Given the description of an element on the screen output the (x, y) to click on. 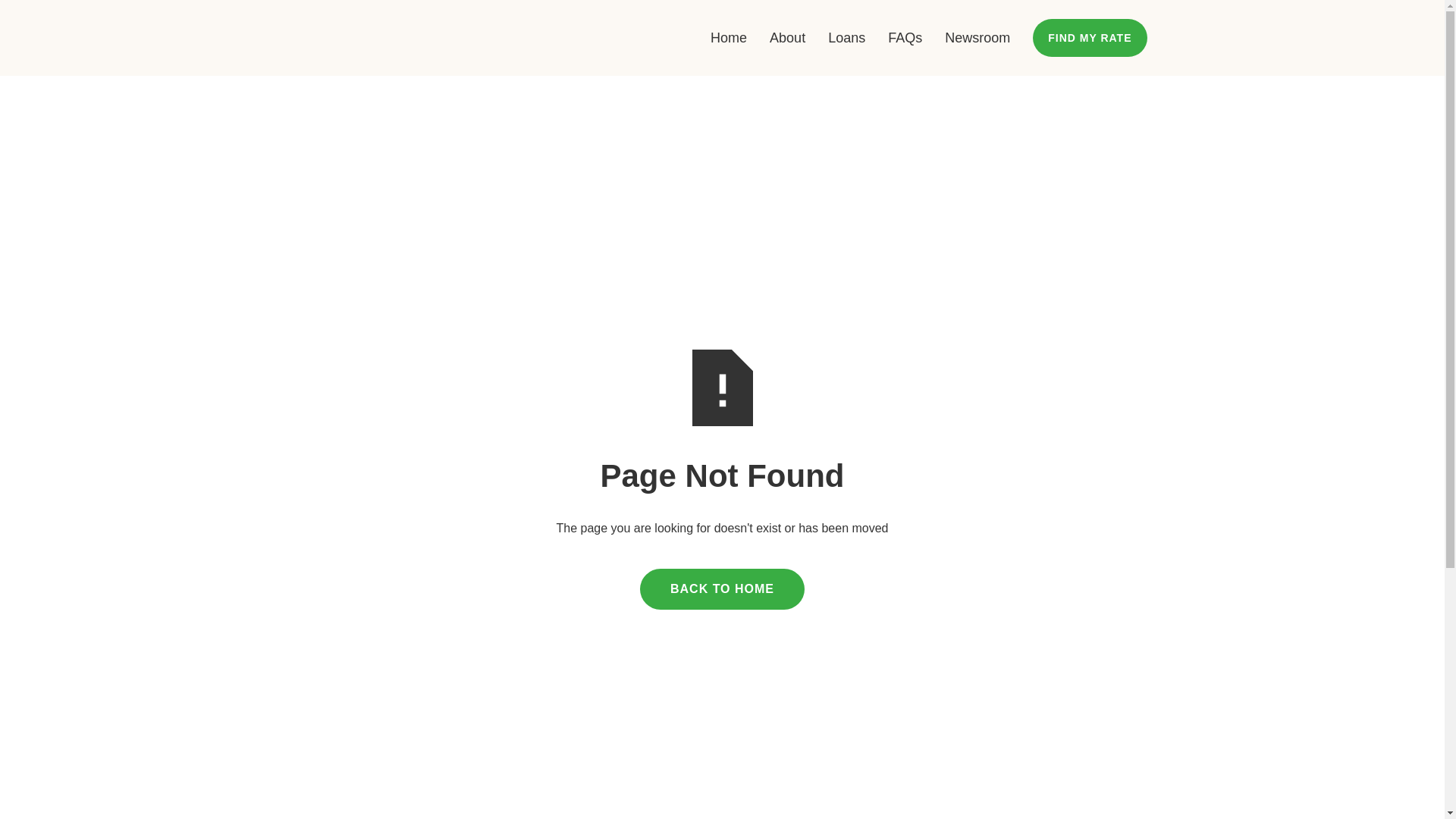
Home Element type: text (728, 37)
FAQs Element type: text (904, 37)
BACK TO HOME Element type: text (722, 588)
About Element type: text (787, 37)
Loans Element type: text (846, 37)
FIND MY RATE Element type: text (1089, 37)
Newsroom Element type: text (977, 37)
